Given the description of an element on the screen output the (x, y) to click on. 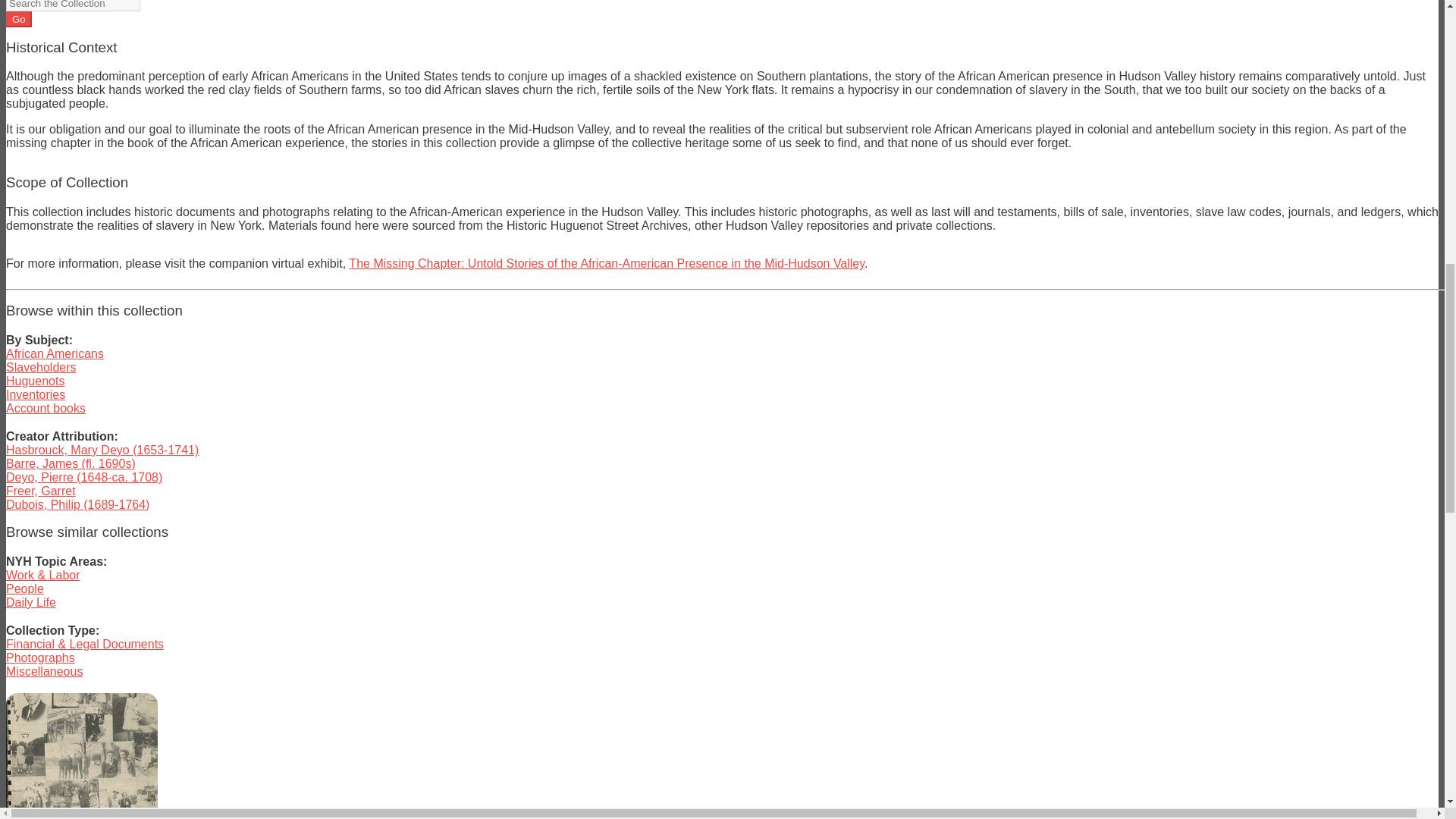
Huguenots (34, 380)
Daily Life (30, 602)
Account books (45, 408)
African Americans (54, 353)
Slaveholders (41, 367)
Go (18, 19)
People (24, 588)
Inventories (35, 394)
Freer, Garret (40, 490)
Photographs (40, 657)
Miscellaneous (43, 671)
